Given the description of an element on the screen output the (x, y) to click on. 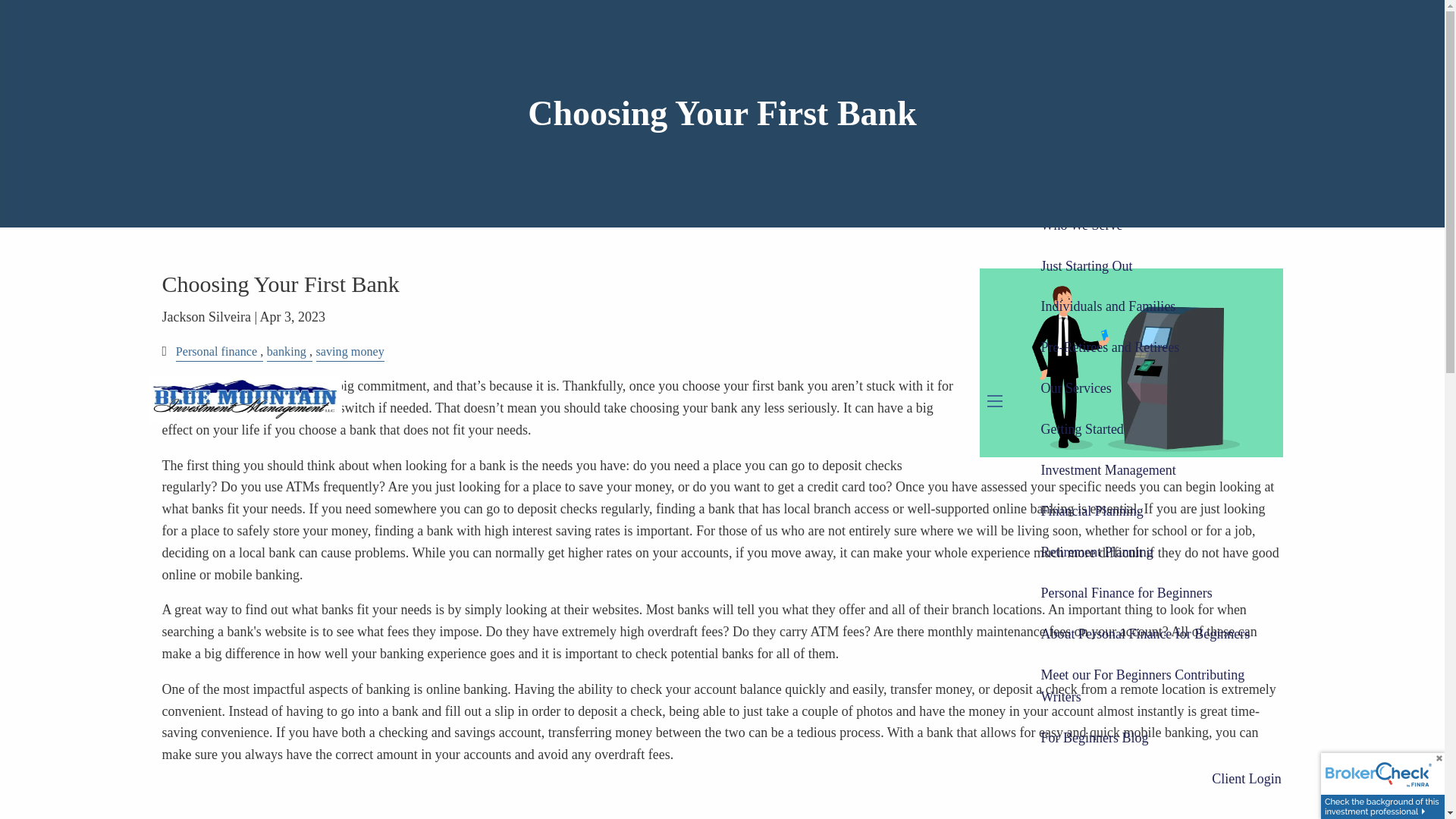
Retirement Planning (1096, 552)
Cetera Advanced Planning Team (1129, 142)
Our Services (1160, 388)
About Personal Finance for Beginners (1144, 634)
Individuals and Families (1107, 306)
About (1160, 60)
Personal finance (216, 351)
Our Team (1128, 101)
Meet our For Beginners Contributing Writers (1160, 686)
Personal Finance for Beginners (1160, 593)
Home (1264, 20)
Our Team (1128, 101)
Retirement Planning (1096, 552)
About (1056, 101)
